Given the description of an element on the screen output the (x, y) to click on. 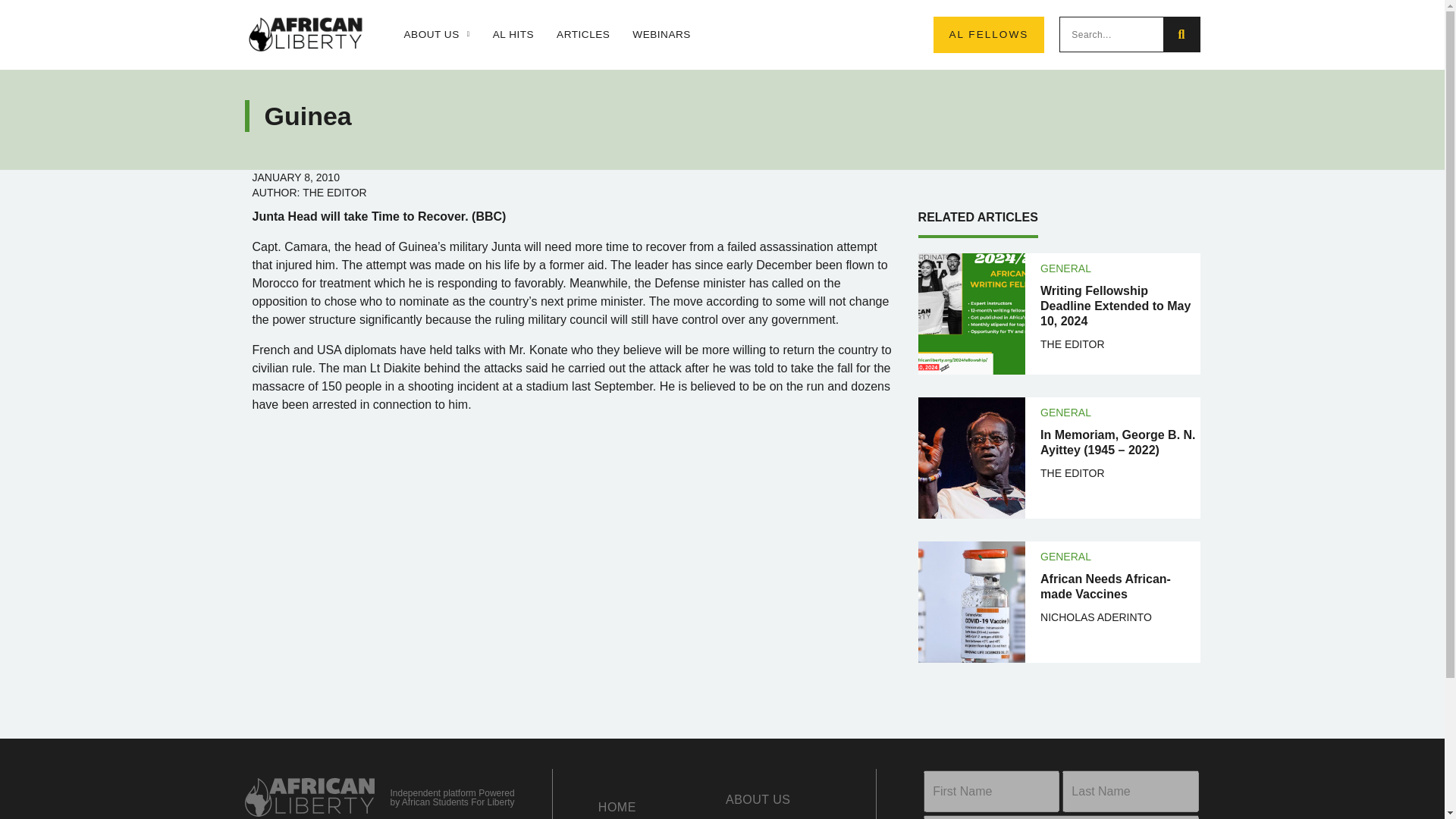
Email (1060, 816)
ABOUT US (435, 34)
First Name (991, 791)
WEBINARS (660, 34)
AL FELLOWS (988, 34)
Last Name (1130, 791)
ARTICLES (583, 34)
AL HITS (513, 34)
